Given the description of an element on the screen output the (x, y) to click on. 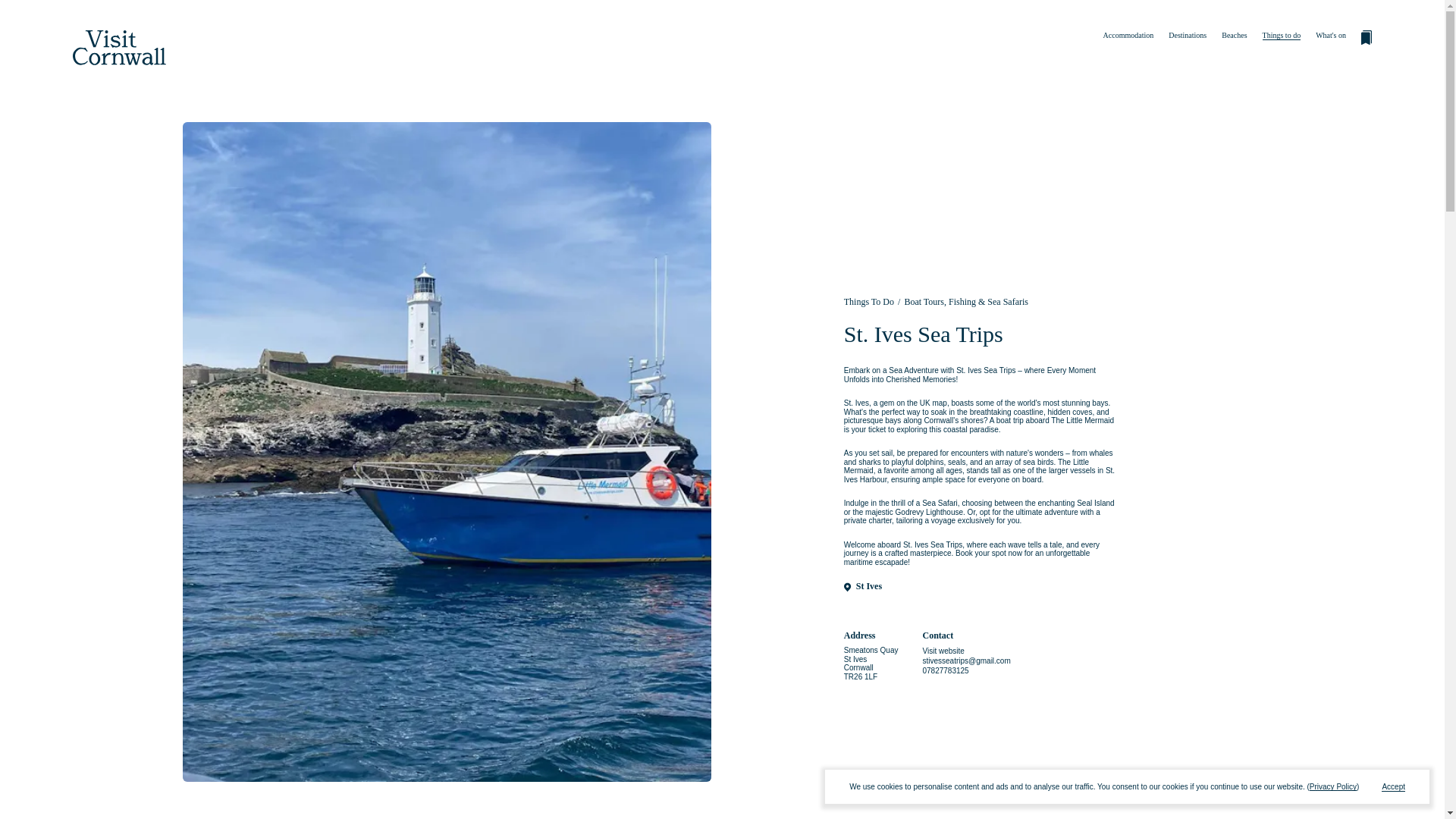
Visit website (942, 651)
Things To Do (868, 301)
Accommodation (1128, 35)
Beaches (1233, 35)
Destinations (1188, 35)
07827783125 (944, 670)
Things to do (1281, 35)
What's on (1330, 35)
Privacy Policy (1332, 786)
Accept (1393, 786)
